Given the description of an element on the screen output the (x, y) to click on. 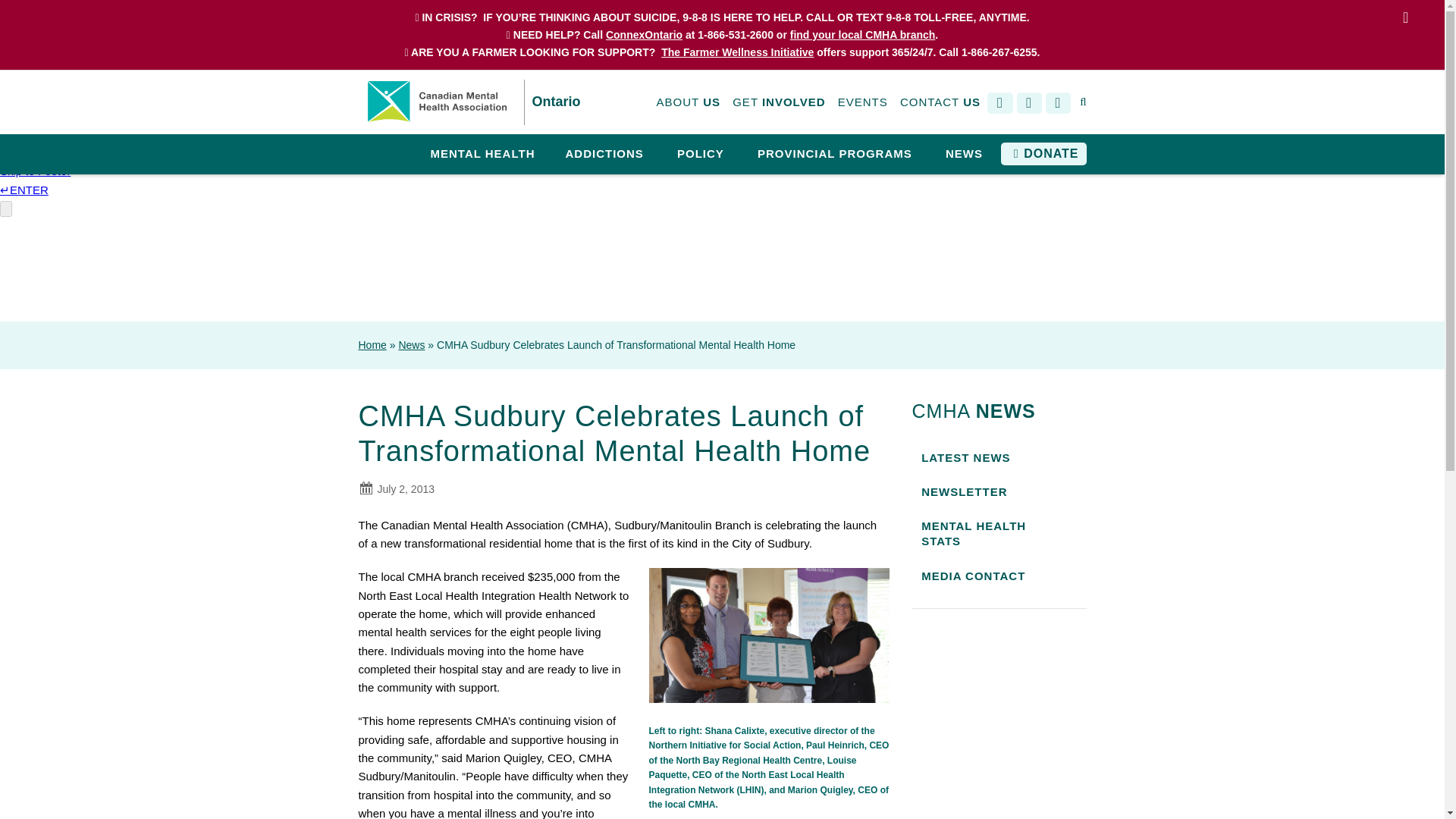
Go to Home. (371, 345)
CONTACT US (939, 102)
POLICY (700, 154)
ConnexOntario (643, 34)
ABOUT US (688, 102)
MENTAL HEALTH (482, 154)
GET INVOLVED (778, 102)
find your local CMHA branch (863, 34)
The Farmer Wellness Initiative (737, 51)
ADDICTIONS (604, 154)
Go to News. (411, 345)
EVENTS (863, 102)
